Given the description of an element on the screen output the (x, y) to click on. 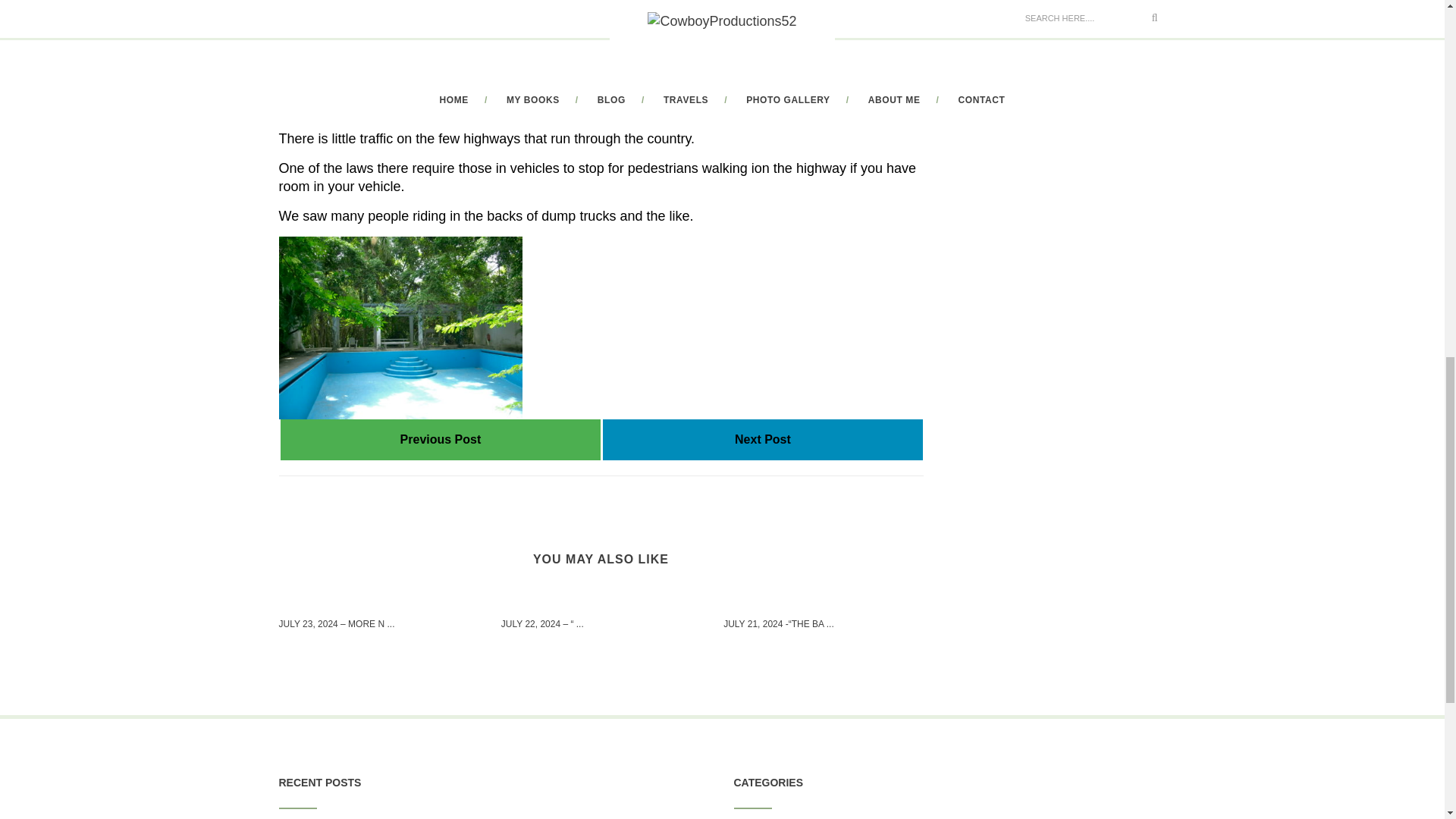
Next Post (761, 439)
Previous Post (441, 439)
Cuba - 2003 - Street market (761, 439)
Cuba - 2003 - The library (440, 439)
Previous Post (440, 439)
Next Post (762, 439)
